Given the description of an element on the screen output the (x, y) to click on. 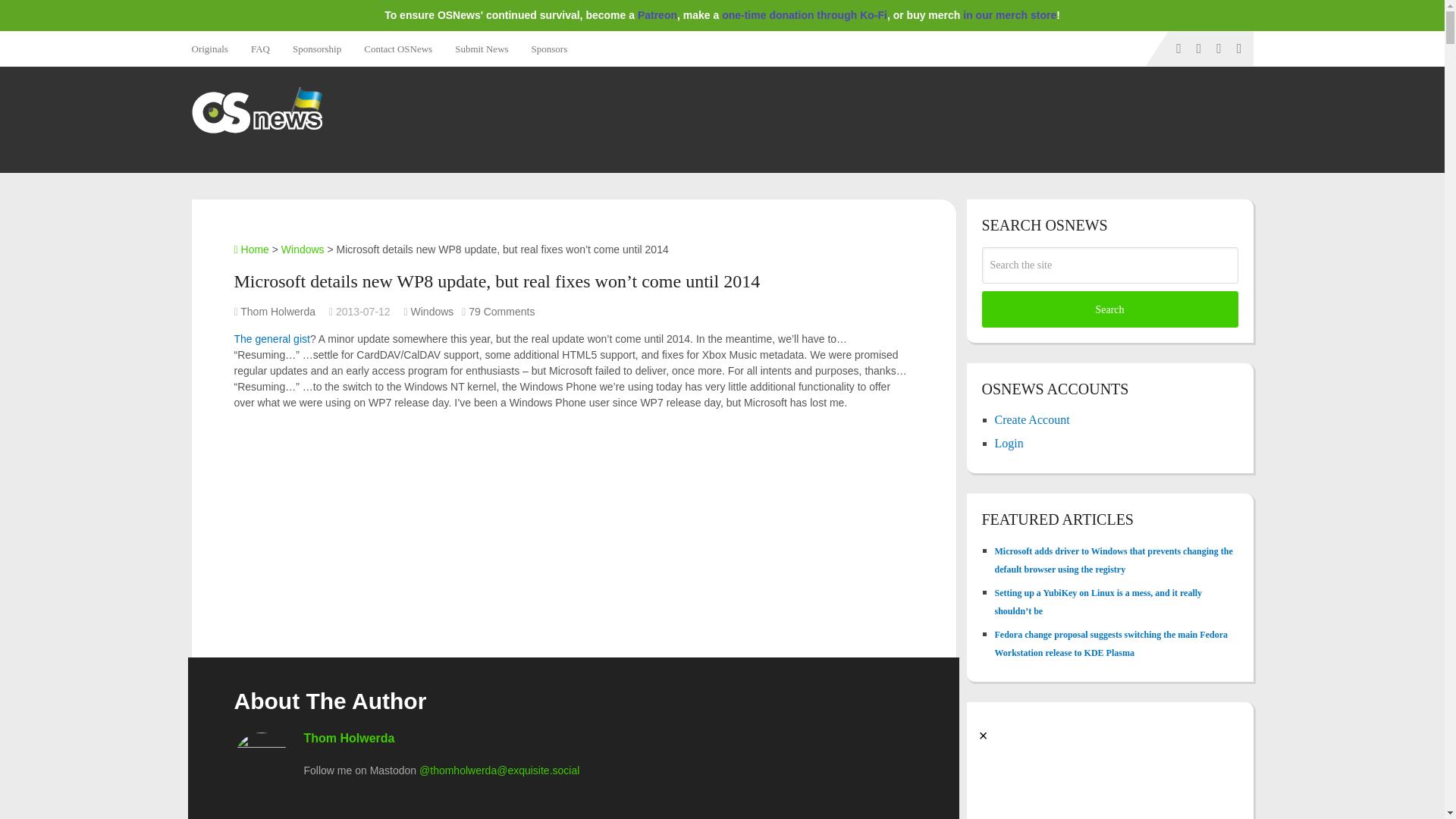
Sponsors (549, 48)
Thom Holwerda (348, 738)
one-time donation through Ko-Fi (804, 15)
The general gist (270, 338)
79 Comments (501, 311)
 Home (249, 249)
Contact OSNews (398, 48)
Originals (214, 48)
Submit News (481, 48)
FAQ (260, 48)
